Given the description of an element on the screen output the (x, y) to click on. 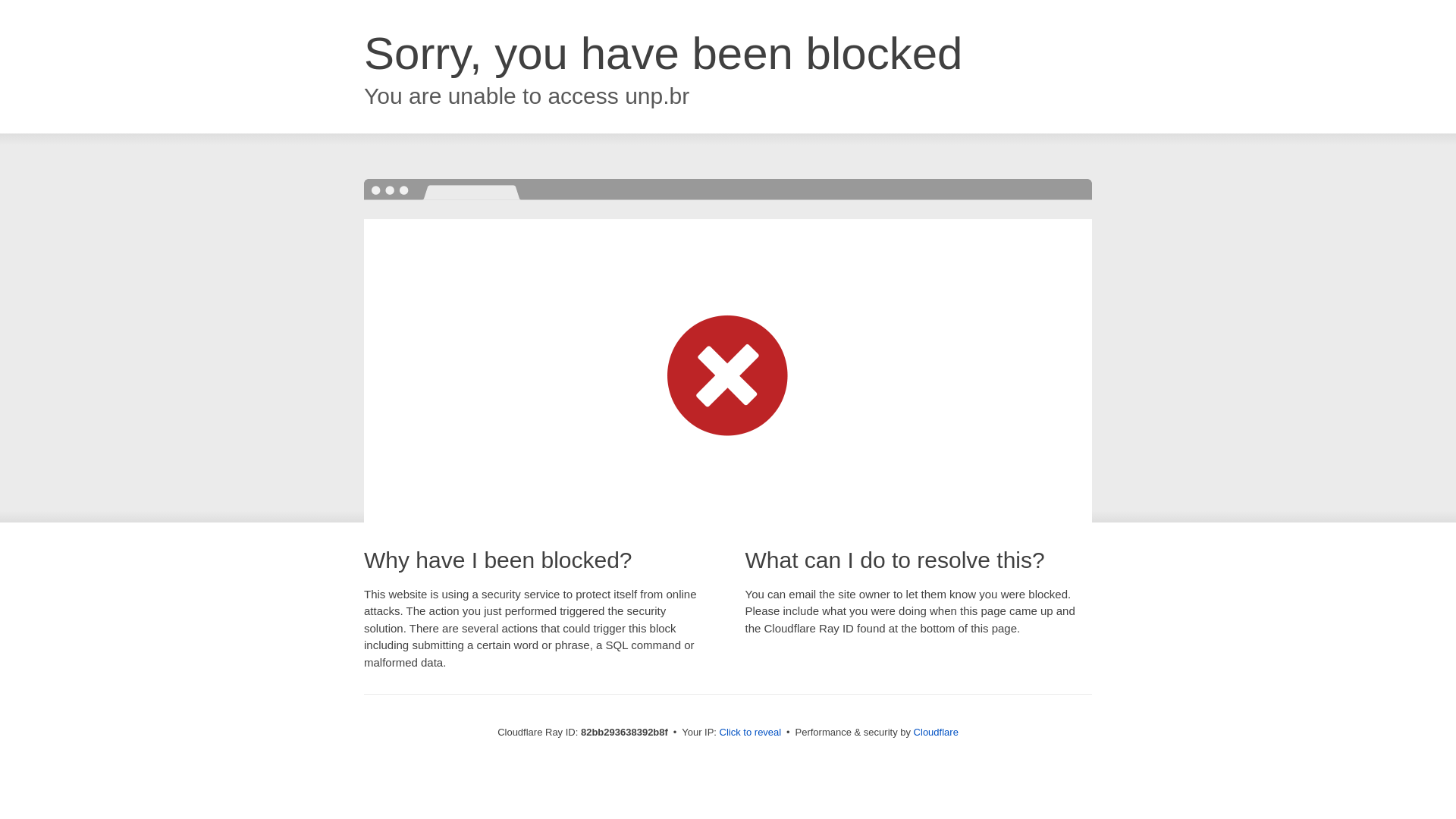
Cloudflare Element type: text (935, 731)
Click to reveal Element type: text (750, 732)
